Given the description of an element on the screen output the (x, y) to click on. 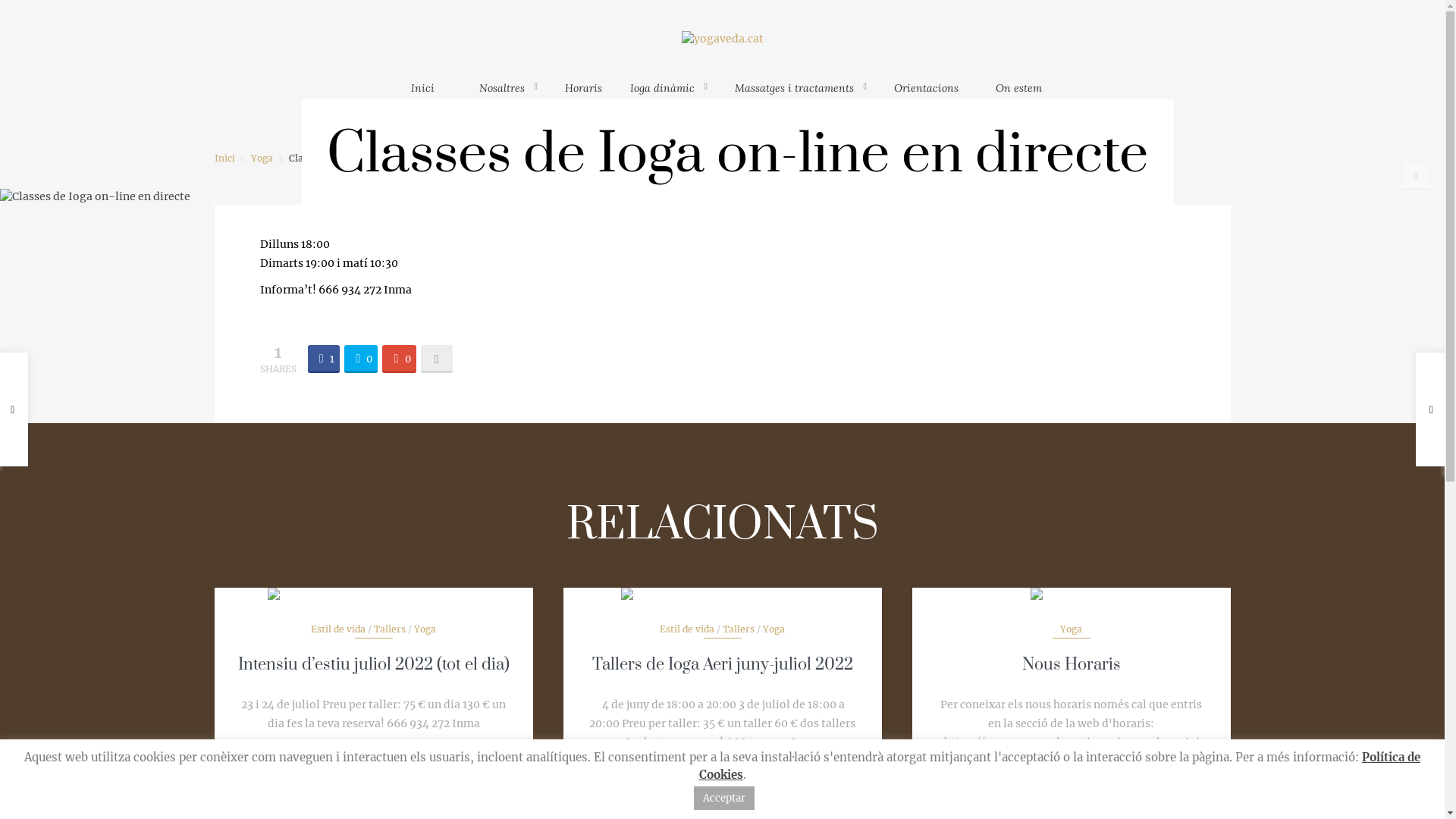
Tallers de Ioga Aeri juny-juliol 2022 Element type: text (721, 664)
Nous Horaris Element type: text (1071, 664)
Massatges i tractaments
com et sents Element type: text (800, 95)
Inici Element type: text (223, 157)
Nosaltres
qui som Element type: text (508, 95)
Yoga Element type: text (425, 628)
Yoga Element type: text (1071, 628)
0 Element type: text (398, 358)
Tallers Element type: text (389, 628)
Inici
plana principal Element type: text (422, 95)
0 Element type: text (360, 358)
Acceptar Element type: text (723, 797)
Yoga Element type: text (773, 628)
Yoga Element type: text (262, 157)
Tallers Element type: text (738, 628)
Estil de vida Element type: text (337, 628)
1 Element type: text (323, 358)
Estil de vida Element type: text (686, 628)
Orientacions
estil de vida Element type: text (926, 95)
Horaris
preus Element type: text (583, 95)
